Given the description of an element on the screen output the (x, y) to click on. 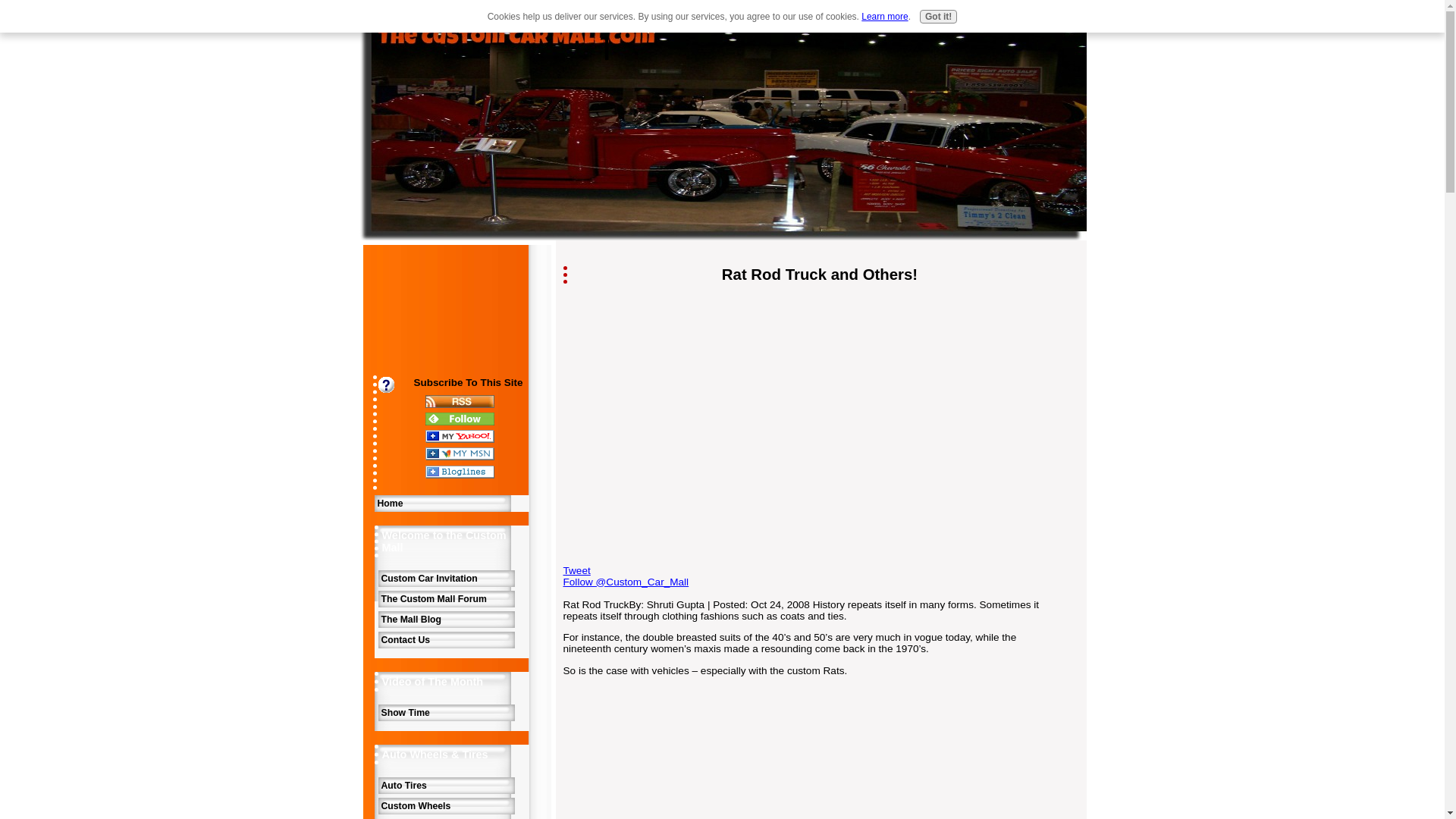
Custom Wheels (445, 805)
Contact Us (445, 639)
Advertisement (415, 324)
Home (451, 503)
Advertisement (689, 402)
Show Time (445, 712)
Custom Car Invitation (445, 578)
Auto Tires (445, 785)
The Mall Blog (445, 619)
The Custom Mall Forum (445, 598)
